Given the description of an element on the screen output the (x, y) to click on. 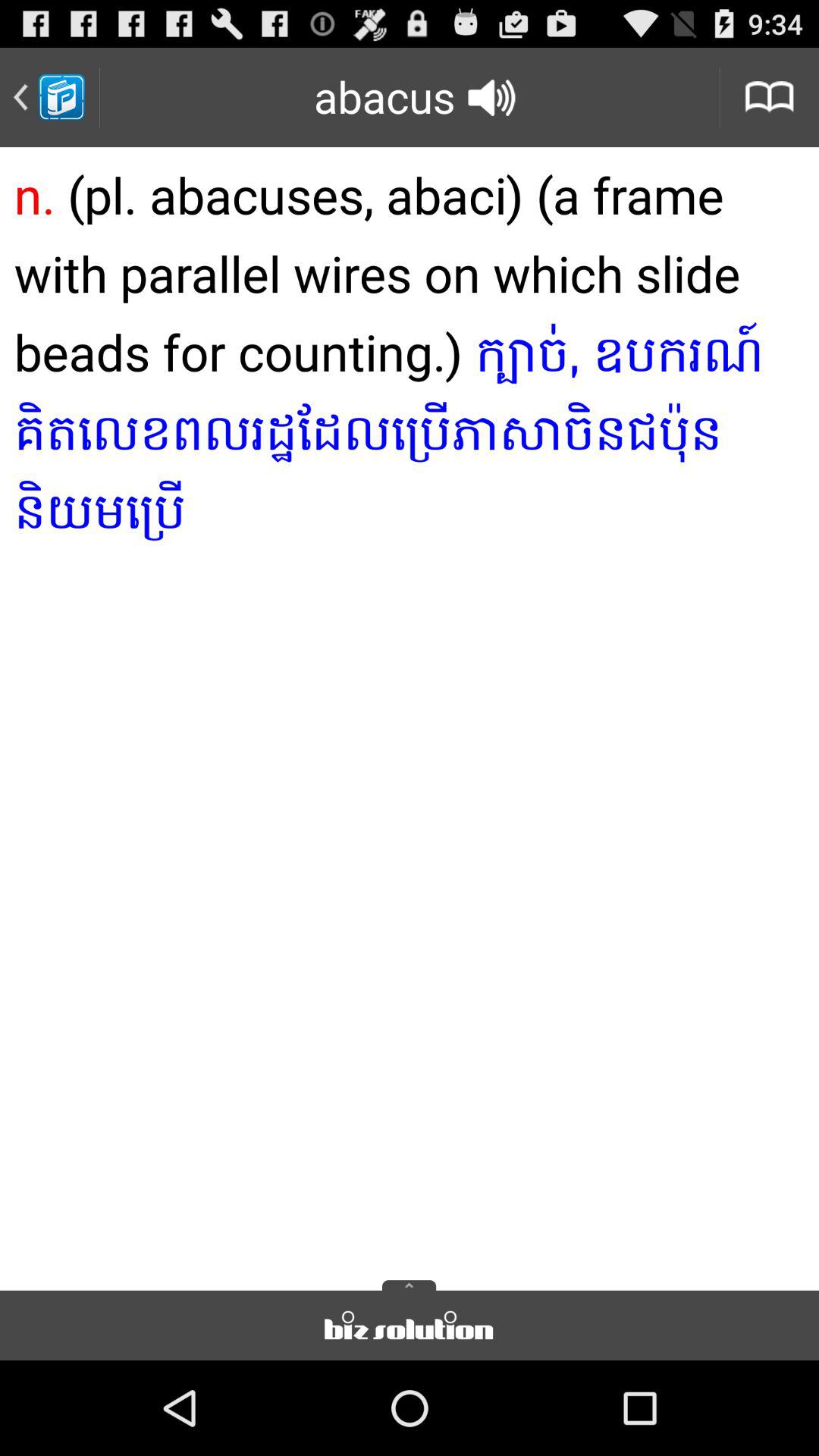
select n pl abacuses (409, 713)
